Given the description of an element on the screen output the (x, y) to click on. 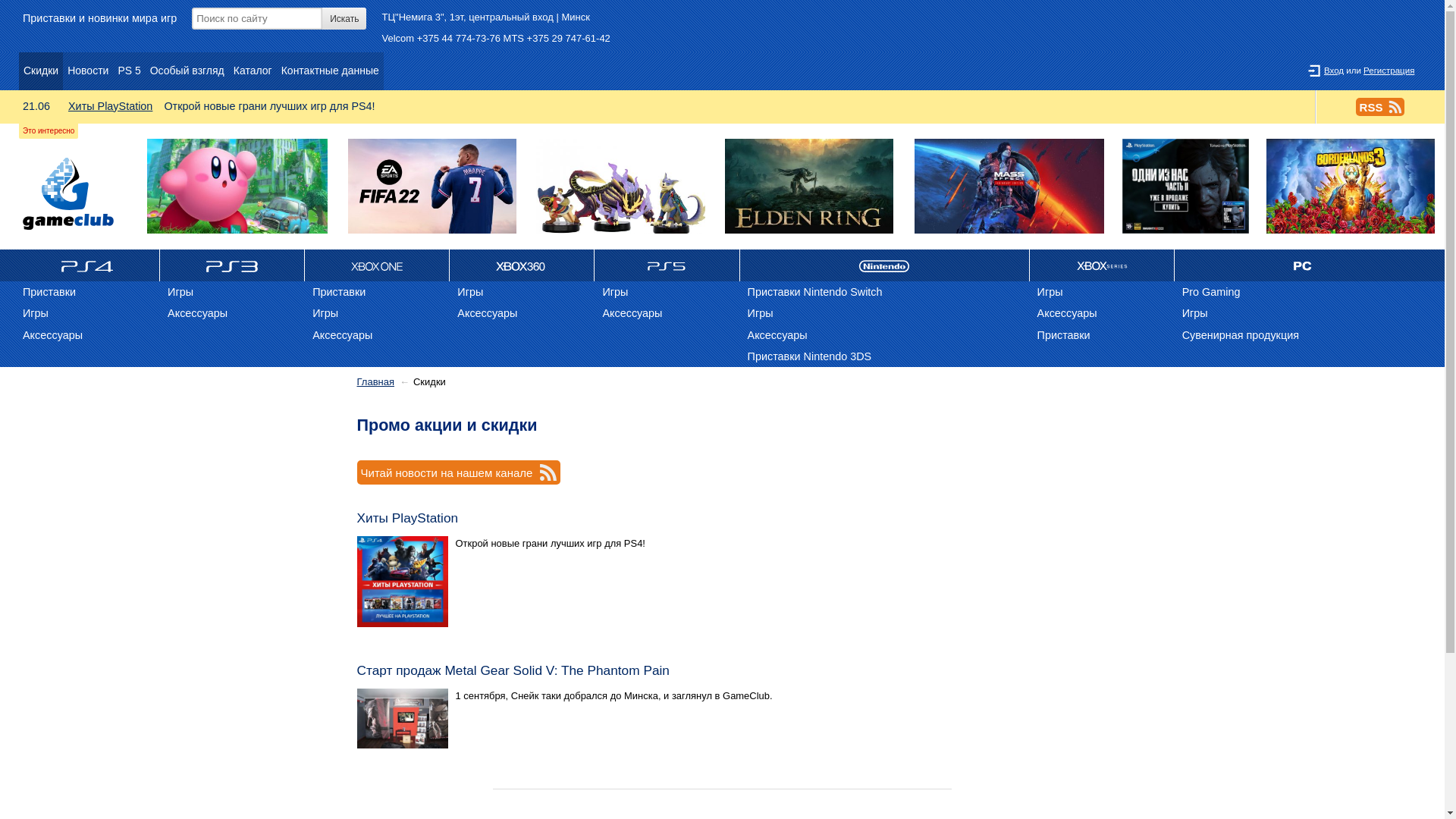
ps 5 Element type: text (666, 265)
PS3 Element type: text (232, 265)
FIFA 22 Element type: hover (432, 186)
PC Element type: text (1301, 265)
Amiibo monster hunter Element type: hover (620, 186)
Kirby and the Forgotten Land Element type: hover (237, 186)
Borderlands 3 Element type: hover (1350, 186)
Xbox 360 Element type: text (521, 265)
Velcom +375 44 774-73-76 MTS +375 29 747-61-42 Element type: text (495, 37)
Elden ring Element type: hover (809, 186)
ps4 Element type: text (87, 265)
Pro Gaming Element type: text (1301, 291)
Last of us 2 Element type: hover (1184, 186)
Nintendo Element type: text (884, 265)
RSS Element type: text (1379, 106)
Xbox One Element type: text (376, 265)
PS 5 Element type: text (128, 71)
Mass Effect: Legendary Edition Element type: hover (1008, 186)
